Given the description of an element on the screen output the (x, y) to click on. 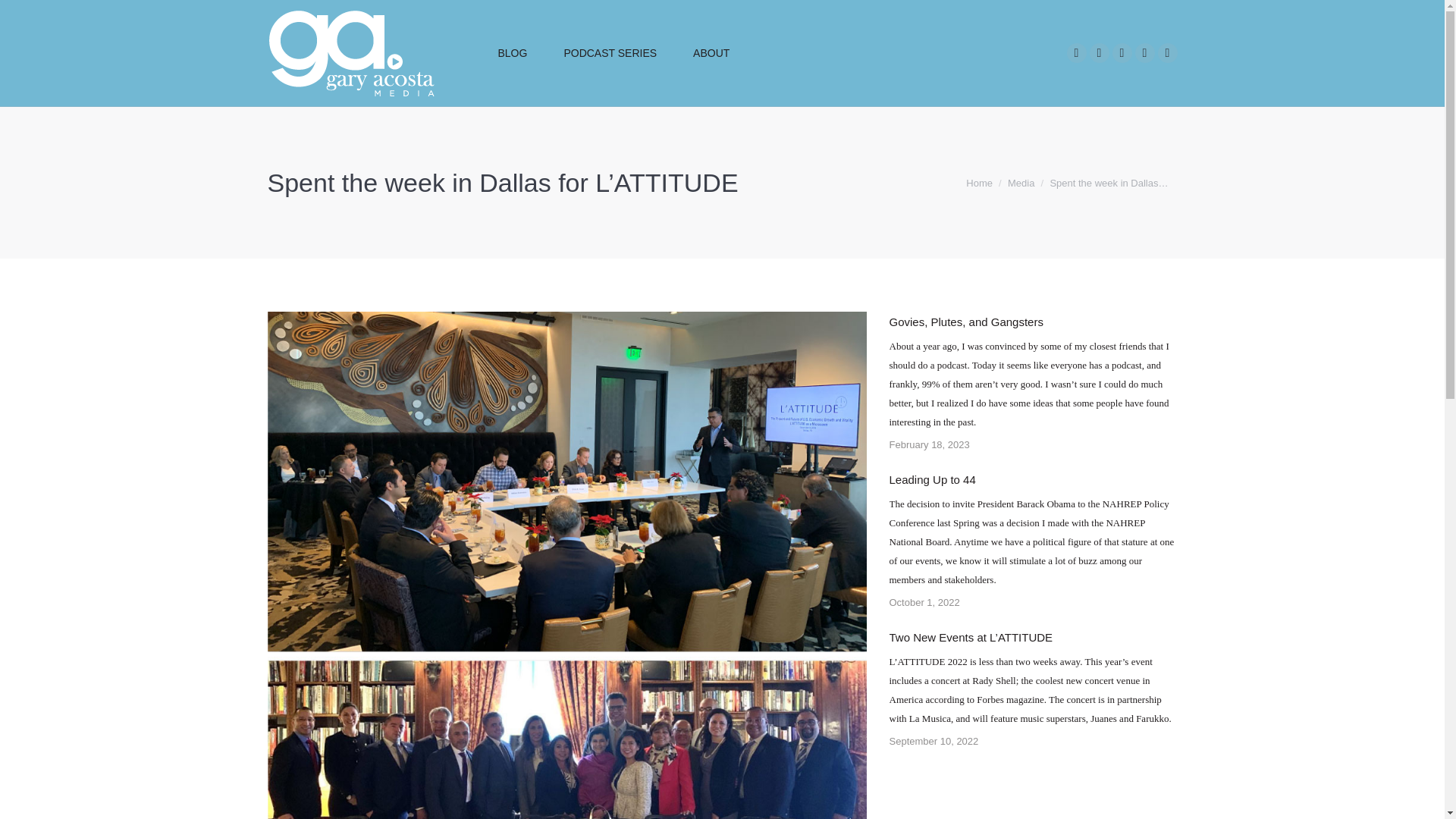
Media (1020, 183)
YouTube page opens in new window (1166, 53)
PODCAST SERIES (609, 53)
Twitter page opens in new window (1121, 53)
Linkedin page opens in new window (1144, 53)
Facebook page opens in new window (1075, 53)
Instagram page opens in new window (1098, 53)
Linkedin page opens in new window (1144, 53)
Facebook page opens in new window (1075, 53)
Home (979, 183)
Twitter page opens in new window (1121, 53)
YouTube page opens in new window (1166, 53)
Instagram page opens in new window (1098, 53)
